Given the description of an element on the screen output the (x, y) to click on. 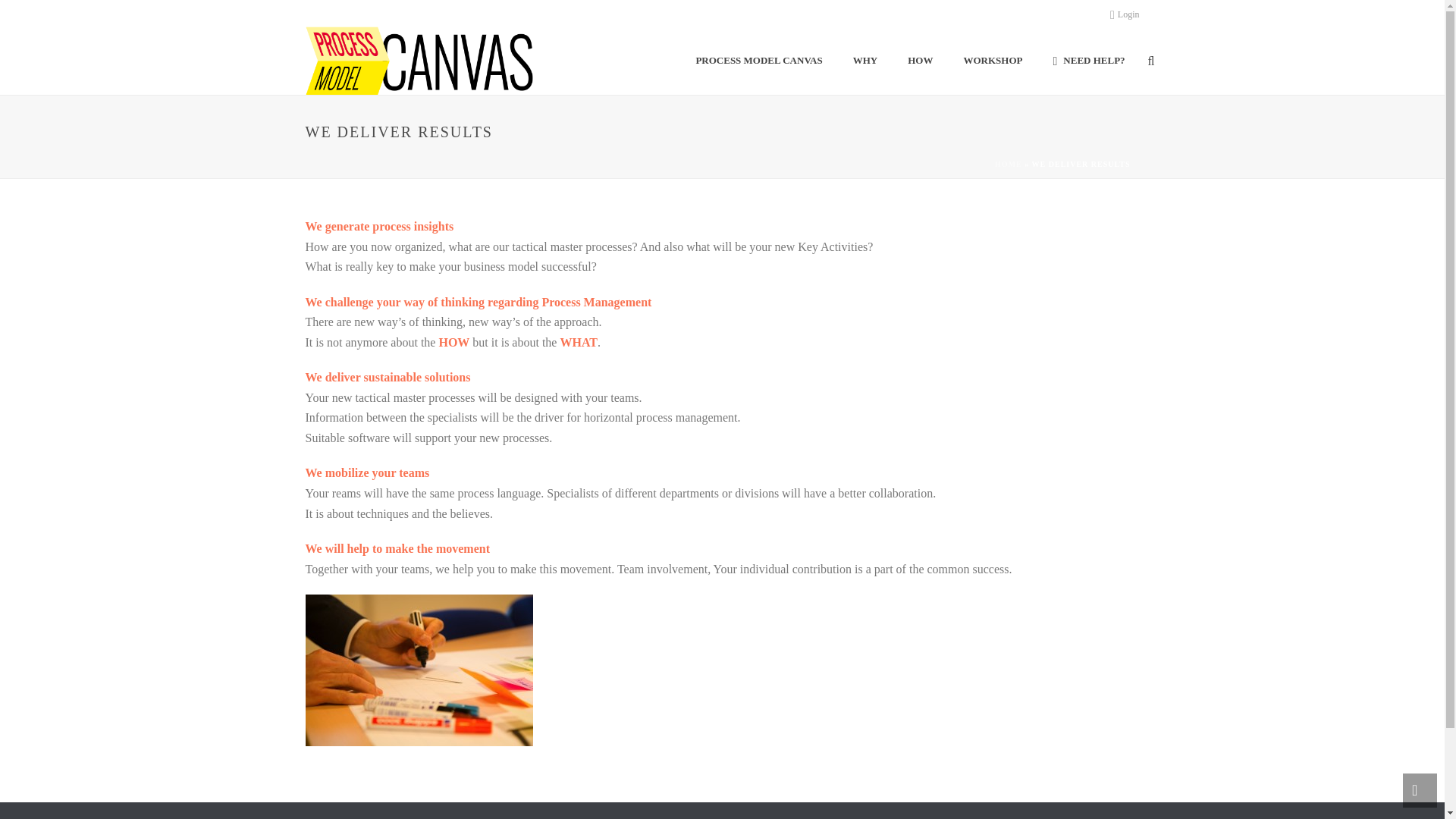
Login (1124, 14)
NEED HELP? (1088, 61)
HOW (919, 61)
WHY (865, 61)
WORKSHOP (991, 61)
HOME (1008, 163)
PROCESS MODEL CANVAS (758, 61)
